Given the description of an element on the screen output the (x, y) to click on. 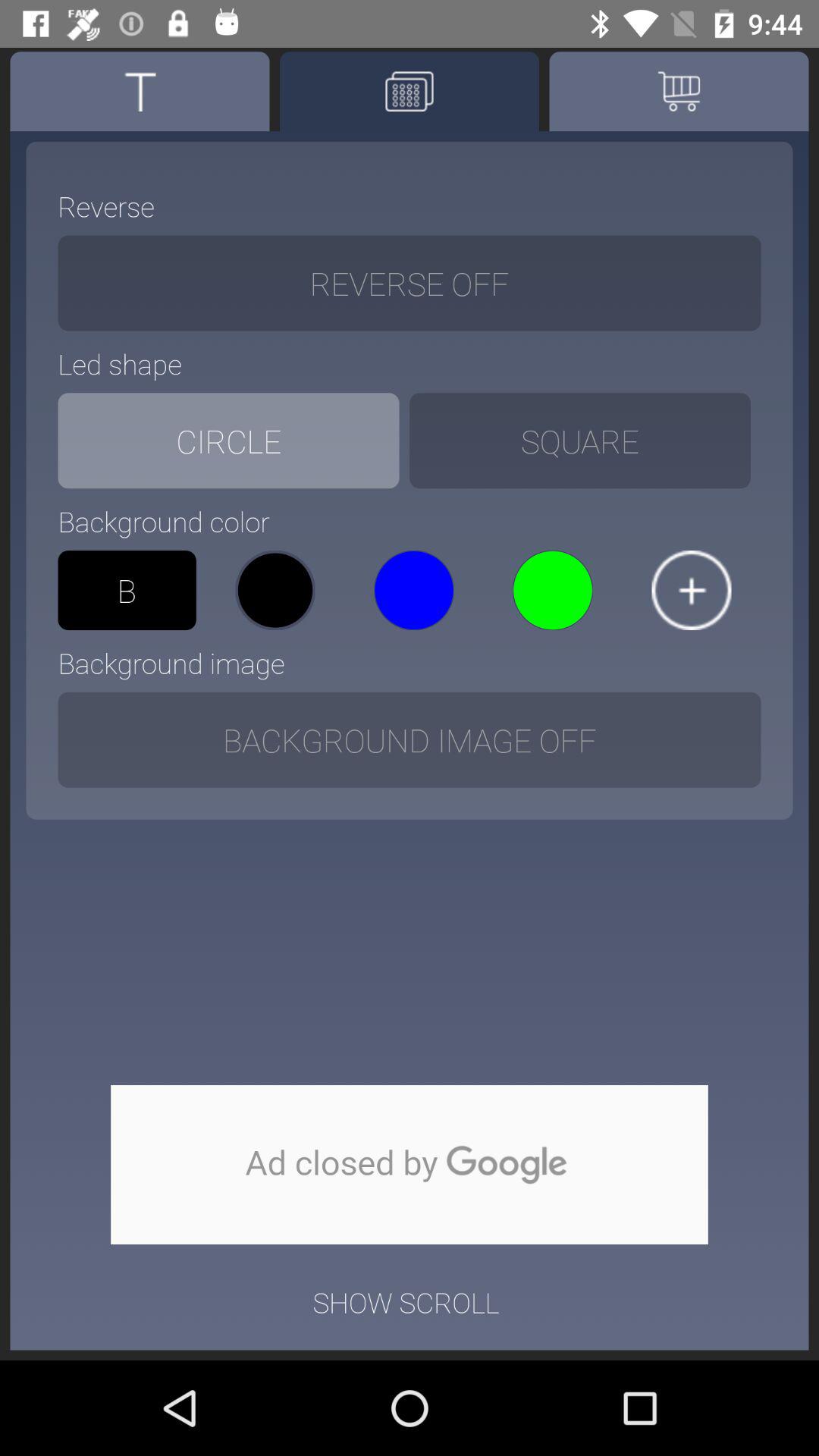
text options (139, 91)
